Given the description of an element on the screen output the (x, y) to click on. 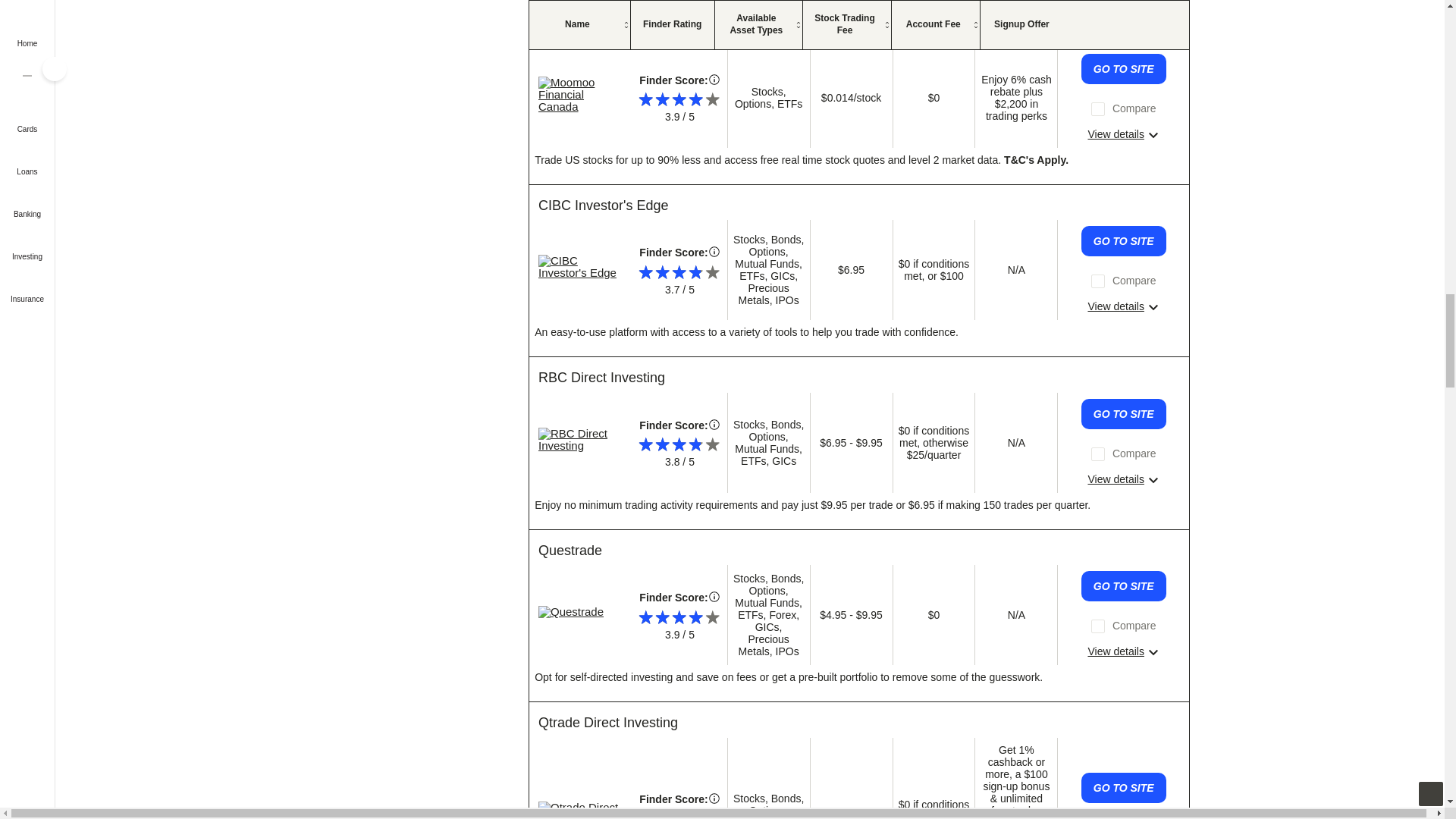
Visit Moomoo (619, 32)
Visit Moomoo (580, 94)
